Given the description of an element on the screen output the (x, y) to click on. 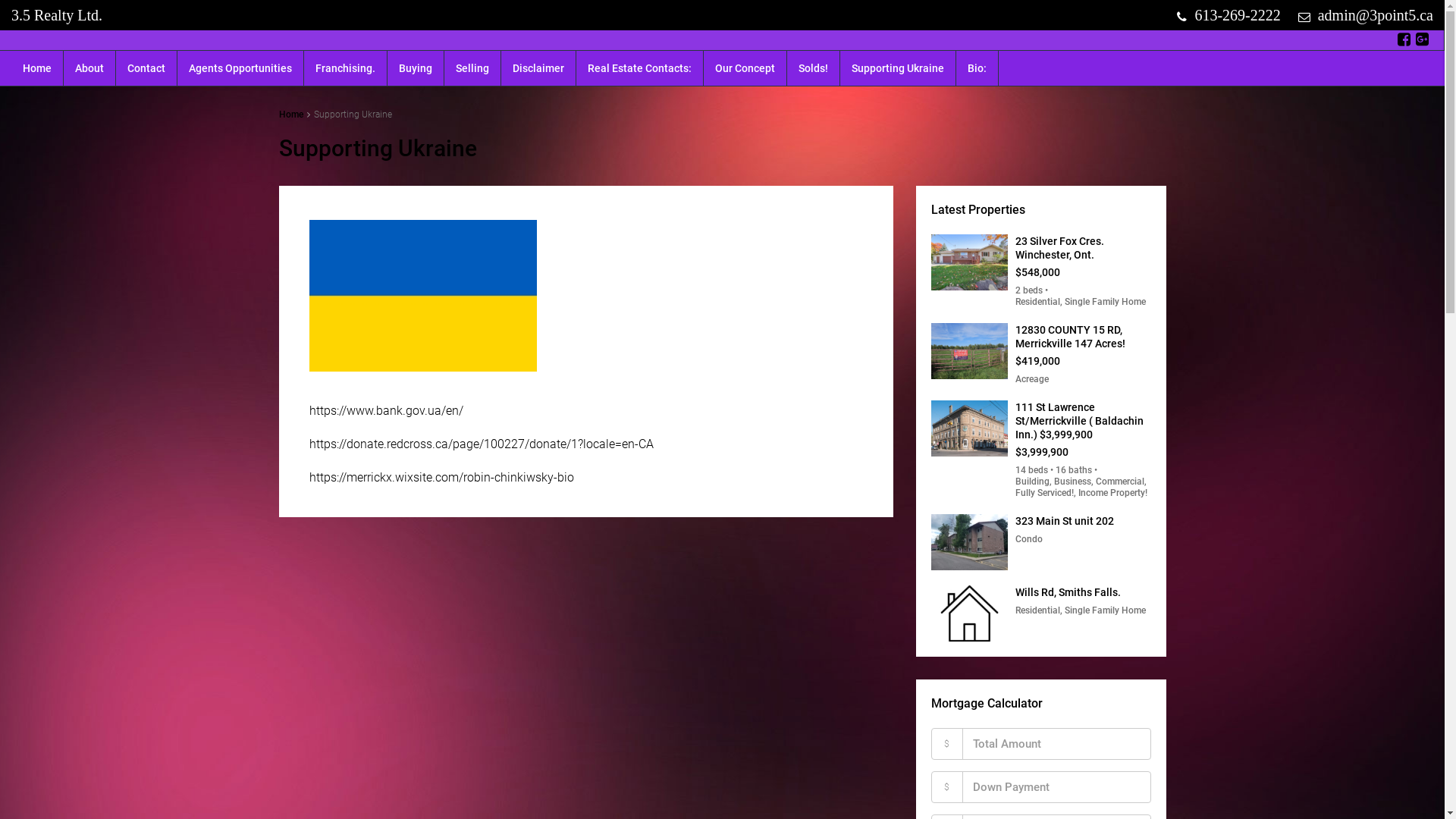
https://www.bank.gov.ua/en/ Element type: text (386, 410)
613-269-2222 Element type: text (1228, 14)
admin@3point5.ca Element type: text (1365, 14)
Real Estate Contacts: Element type: text (639, 67)
111 St Lawrence St/Merrickville ( Baldachin Inn.) $3,999,900 Element type: text (1078, 420)
Disclaimer Element type: text (538, 67)
Agents Opportunities Element type: text (240, 67)
Selling Element type: text (472, 67)
https://donate.redcross.ca/page/100227/donate/1?locale=en-CA Element type: text (481, 443)
Wills Rd, Smiths Falls. Element type: text (1067, 592)
Our Concept Element type: text (744, 67)
Supporting Ukraine Element type: text (897, 67)
Bio: Element type: text (976, 67)
Buying Element type: text (415, 67)
Home Element type: text (36, 67)
323 Main St unit 202 Element type: text (1063, 520)
12830 COUNTY 15 RD, Merrickville 147 Acres! Element type: text (1069, 336)
Home Element type: text (291, 114)
Solds! Element type: text (813, 67)
Franchising. Element type: text (345, 67)
About Element type: text (89, 67)
23 Silver Fox Cres. Winchester, Ont. Element type: text (1058, 247)
Contact Element type: text (146, 67)
